Given the description of an element on the screen output the (x, y) to click on. 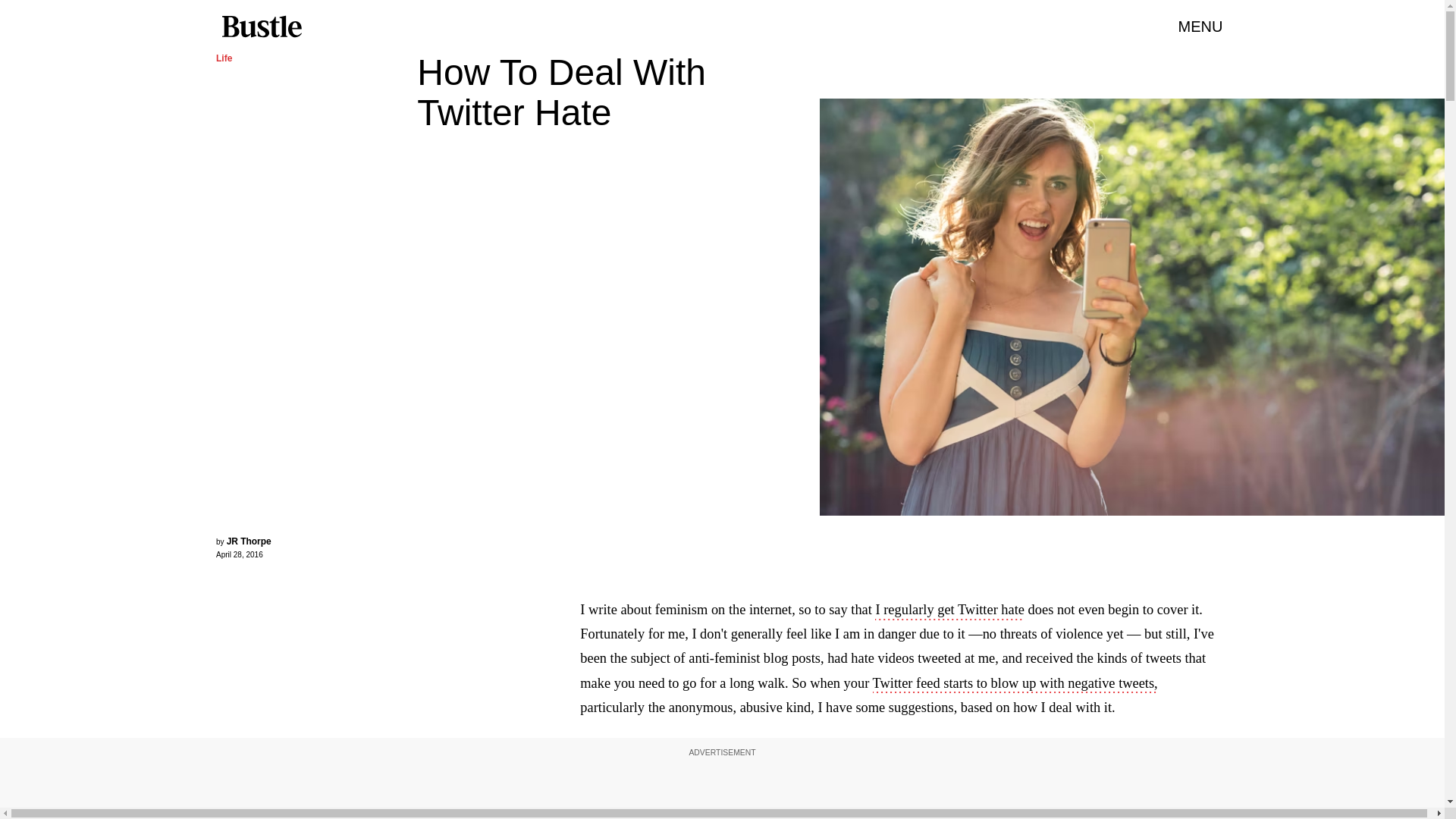
Twitter feed starts to blow up with negative tweets, (1014, 684)
Bustle (261, 26)
I regularly get Twitter hate (950, 610)
